Given the description of an element on the screen output the (x, y) to click on. 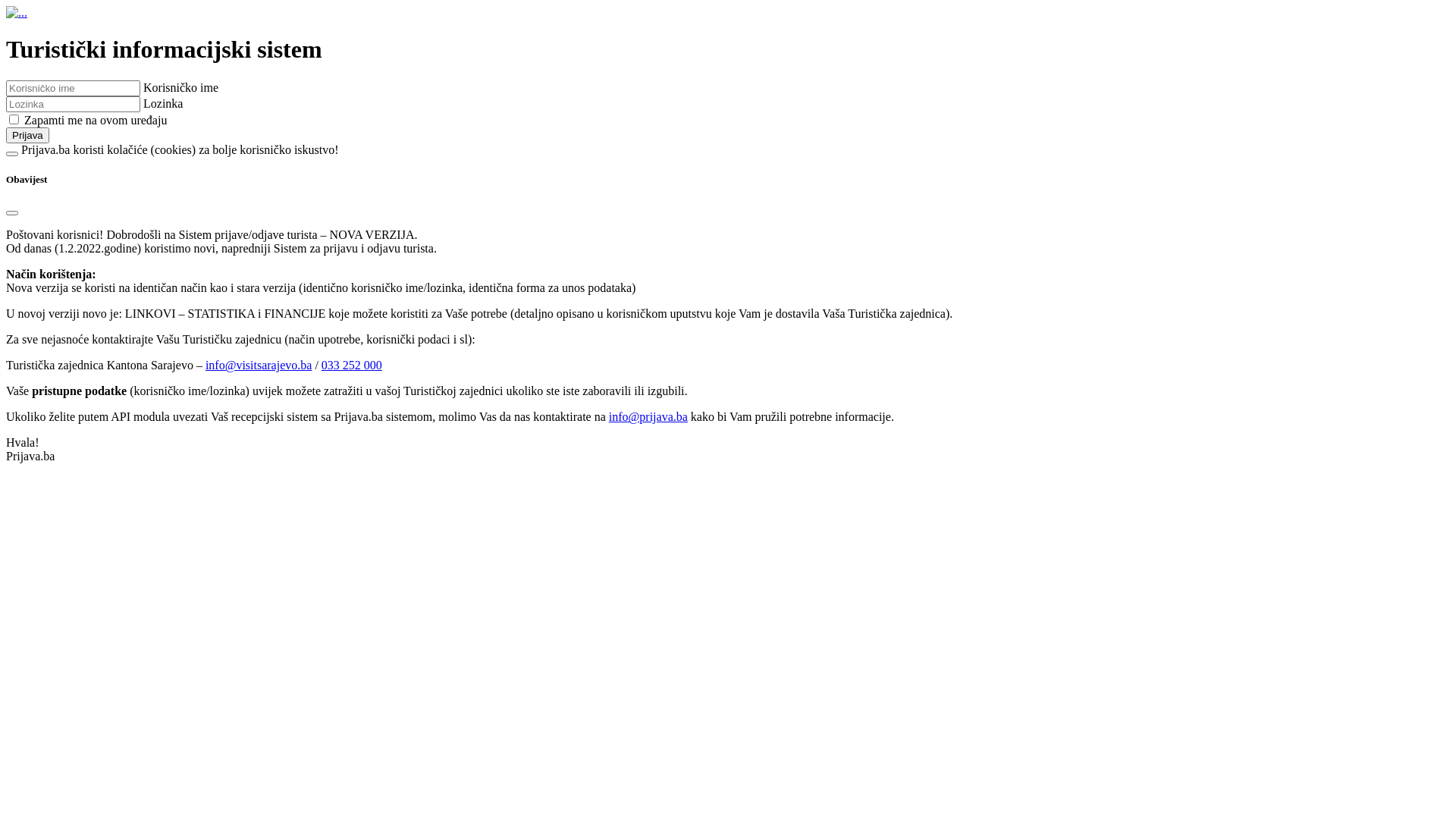
Prijava Element type: text (27, 135)
033 252 000 Element type: text (351, 364)
info@visitsarajevo.ba Element type: text (258, 364)
info@prijava.ba Element type: text (647, 416)
